Given the description of an element on the screen output the (x, y) to click on. 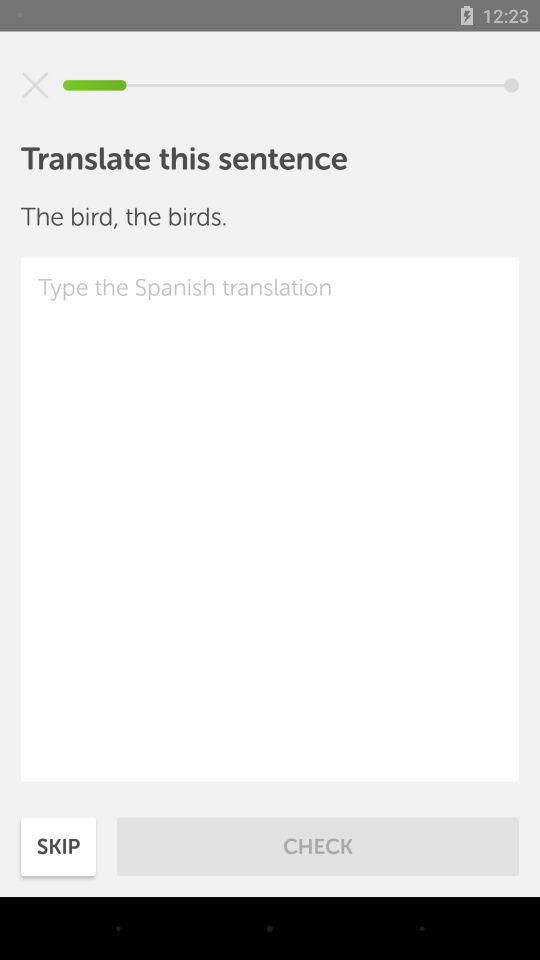
press item at the center (270, 519)
